Given the description of an element on the screen output the (x, y) to click on. 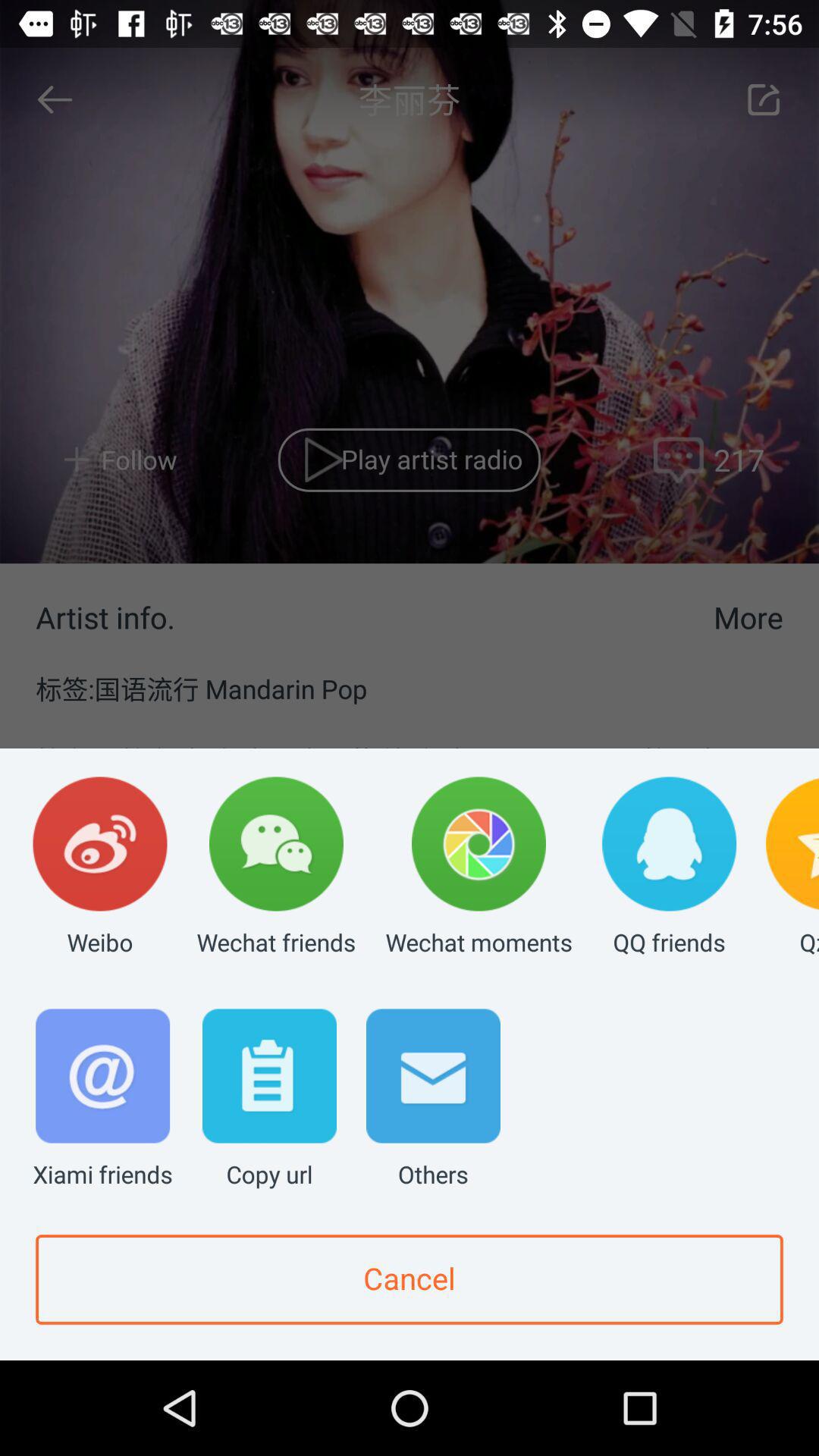
tap qzone app (792, 867)
